Given the description of an element on the screen output the (x, y) to click on. 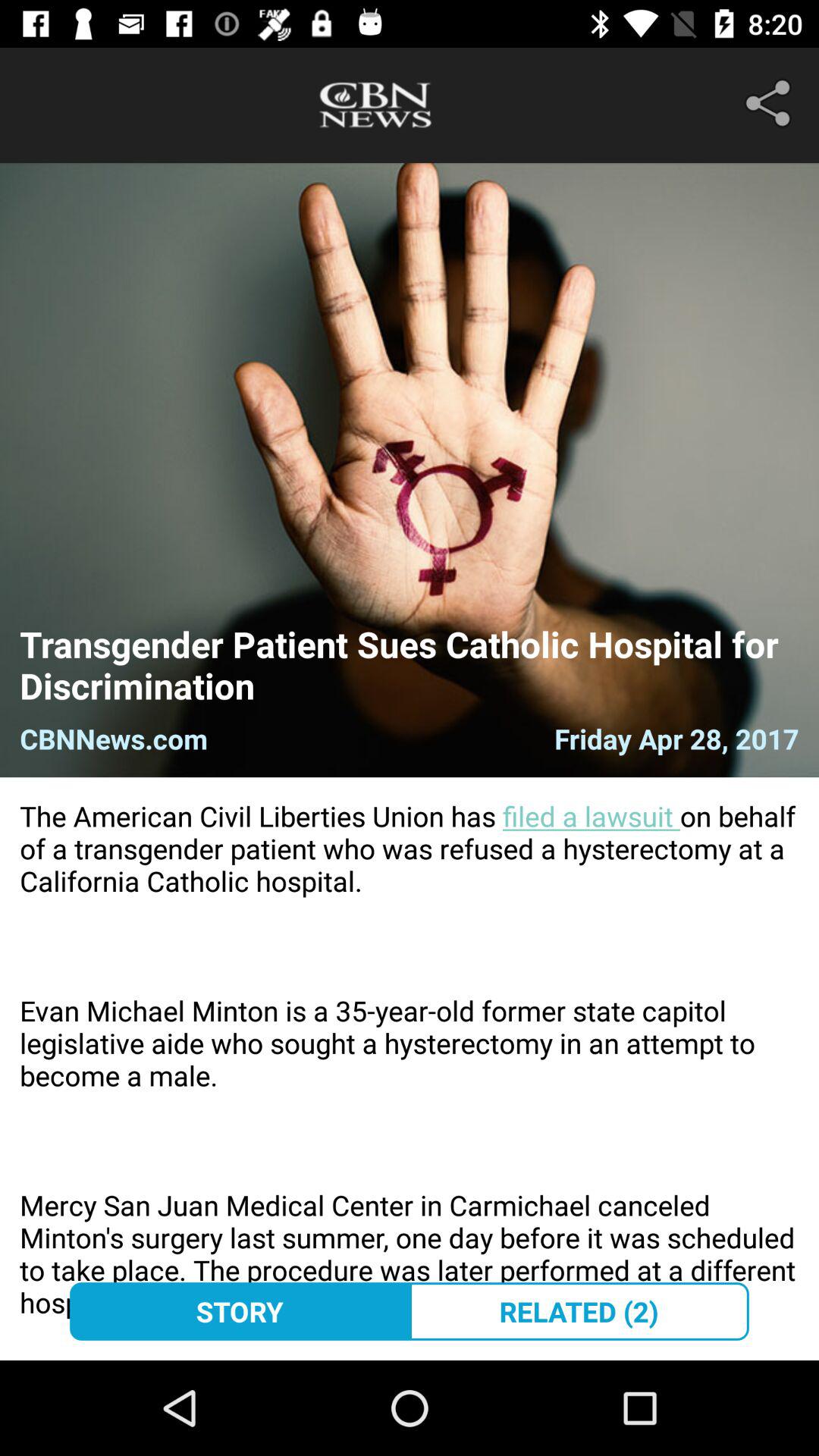
press the related (2) icon (579, 1311)
